Given the description of an element on the screen output the (x, y) to click on. 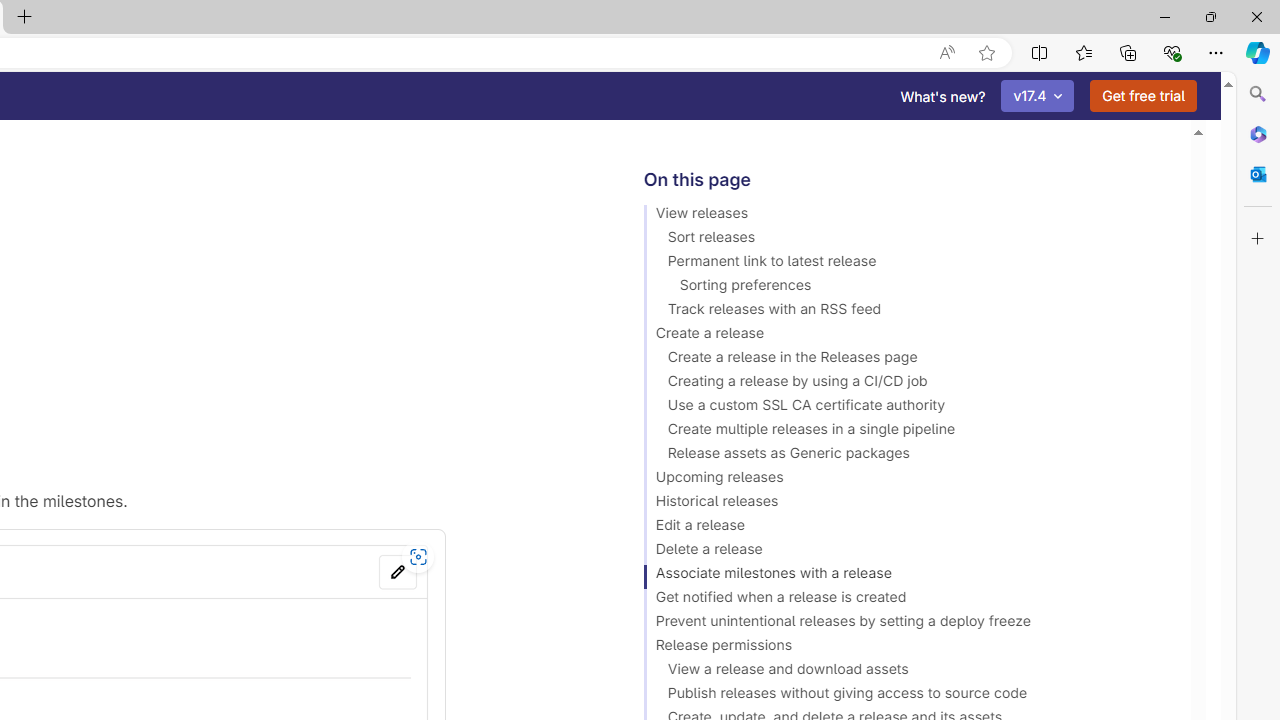
Get notified when a release is created (908, 600)
View a release and download assets (908, 672)
Track releases with an RSS feed (908, 312)
Create multiple releases in a single pipeline (908, 431)
Get free trial (1143, 95)
Historical releases (908, 503)
Release assets as Generic packages (908, 456)
Permanent link to latest release (908, 264)
View releases (908, 215)
Delete a release (908, 552)
v17.4 (1037, 95)
Publish releases without giving access to source code (908, 696)
